Given the description of an element on the screen output the (x, y) to click on. 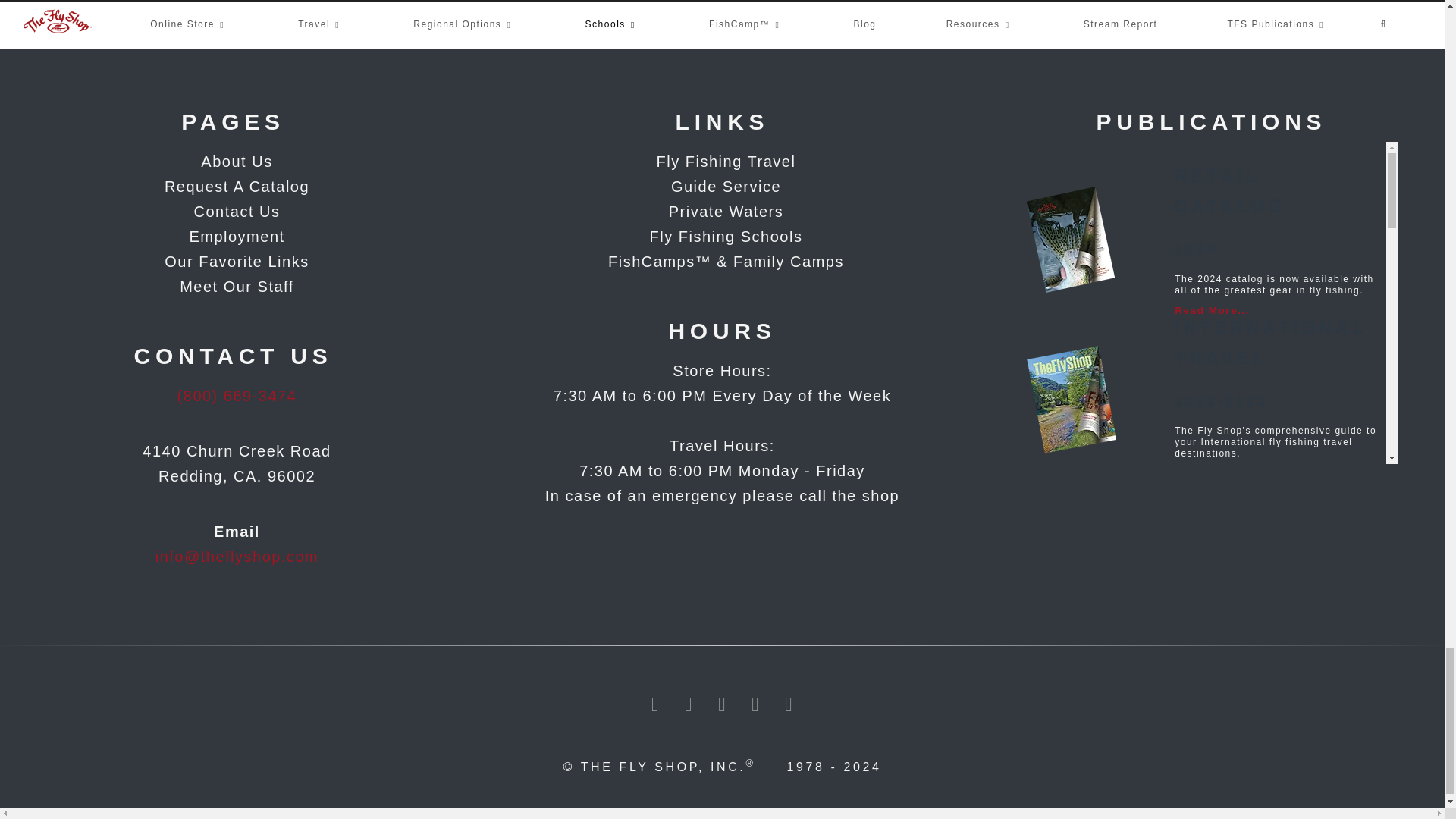
TFS page (232, 161)
TFS page (232, 186)
TFS page (232, 286)
Fly Tying - 2024 Catalog (1072, 535)
International Travel - 2022-2023 (1072, 399)
N. California Planner - 2024 Planner (1072, 702)
Telephone Number (237, 395)
TFS page (232, 211)
Retail Catalog - 2024 (1072, 241)
TFS page (232, 236)
TFS page (232, 261)
